Given the description of an element on the screen output the (x, y) to click on. 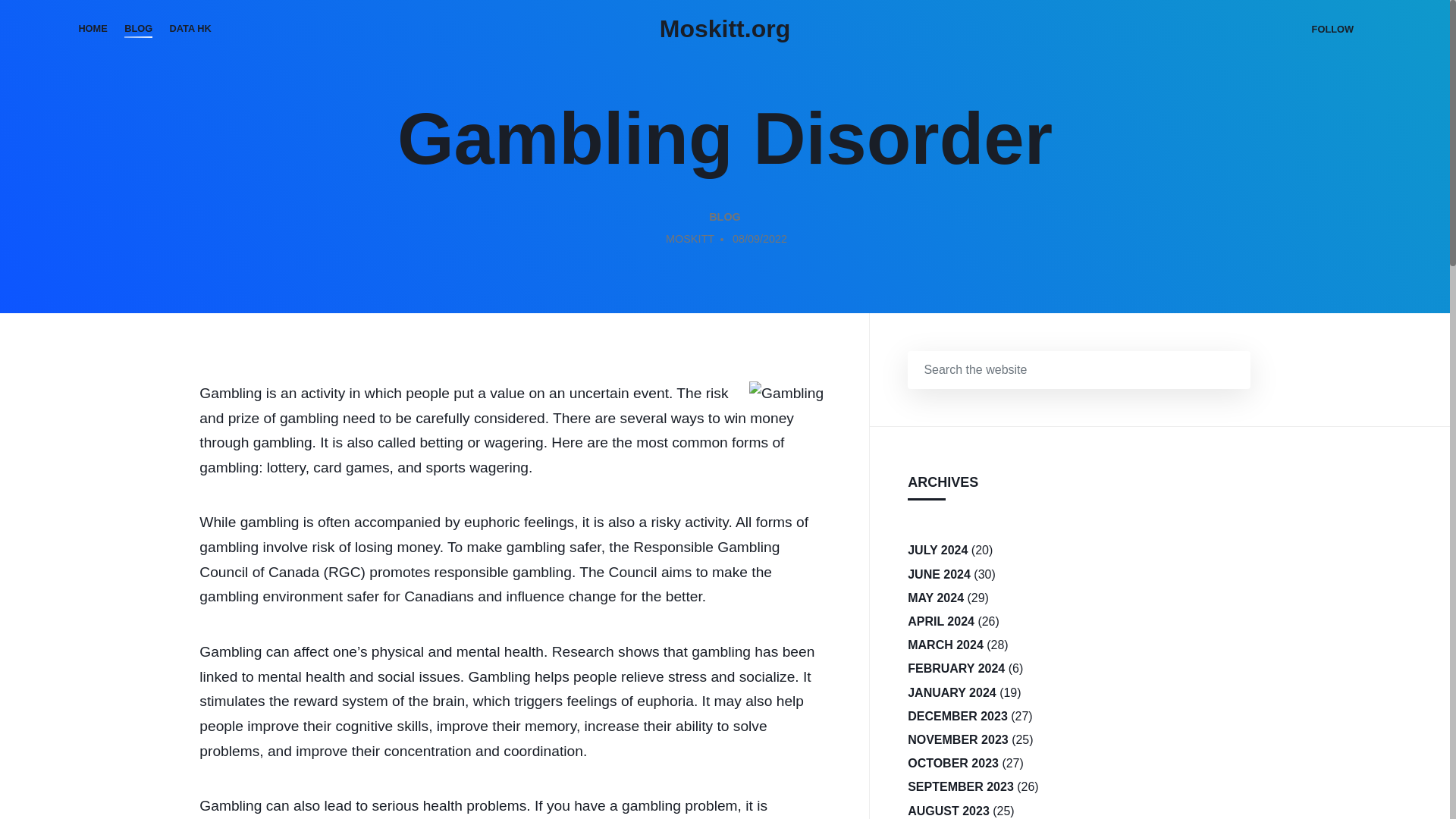
BLOG (725, 219)
Moskitt.org (724, 28)
Blog (725, 219)
DATA HK (189, 28)
MAY 2024 (935, 597)
Blog (138, 28)
MOSKITT (689, 240)
Home (92, 28)
JANUARY 2024 (951, 692)
Moskitt.org (724, 28)
HOME (92, 28)
SEPTEMBER 2023 (960, 786)
APRIL 2024 (940, 621)
MARCH 2024 (945, 644)
JULY 2024 (937, 549)
